Given the description of an element on the screen output the (x, y) to click on. 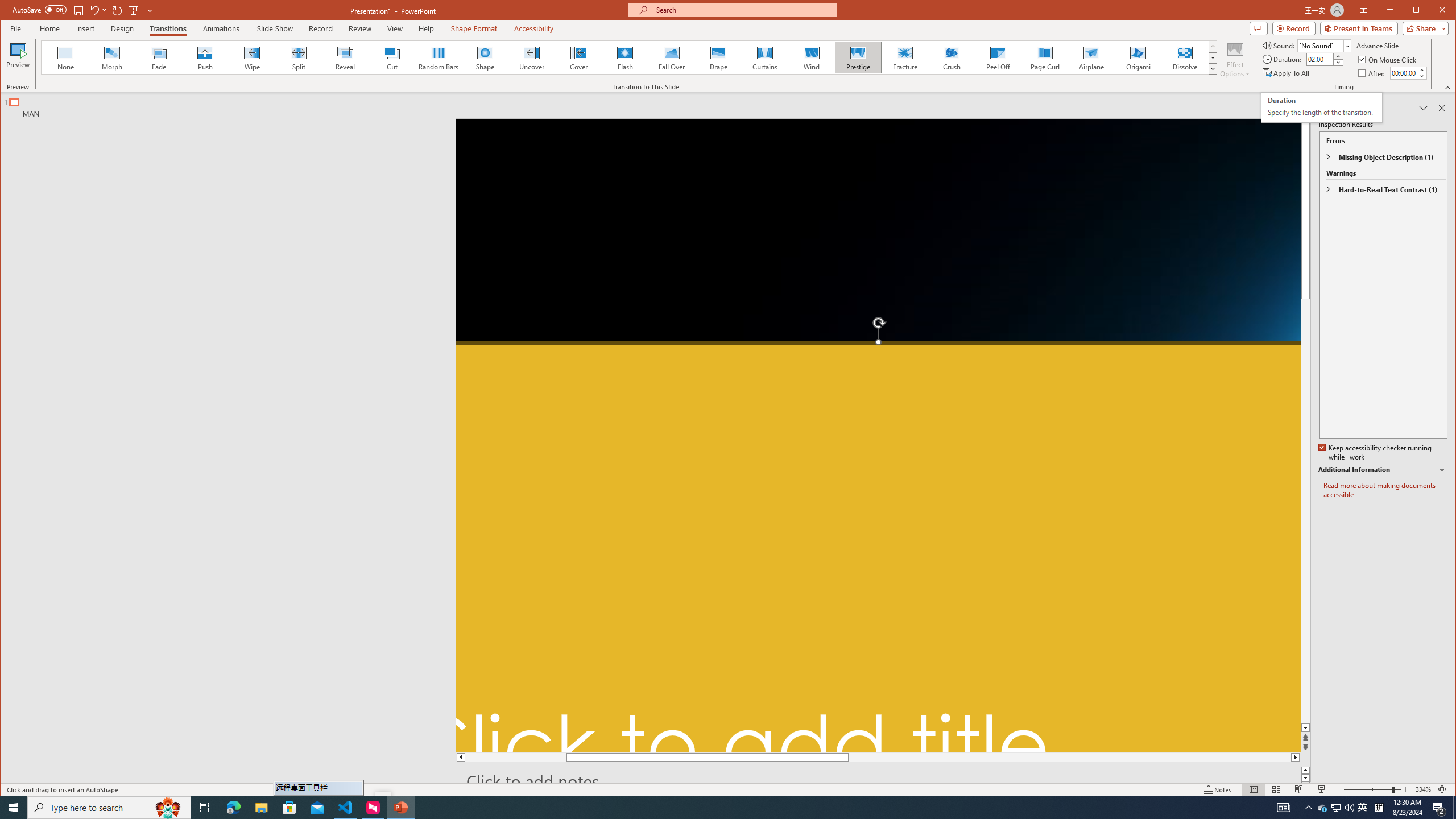
Reveal (344, 57)
